Given the description of an element on the screen output the (x, y) to click on. 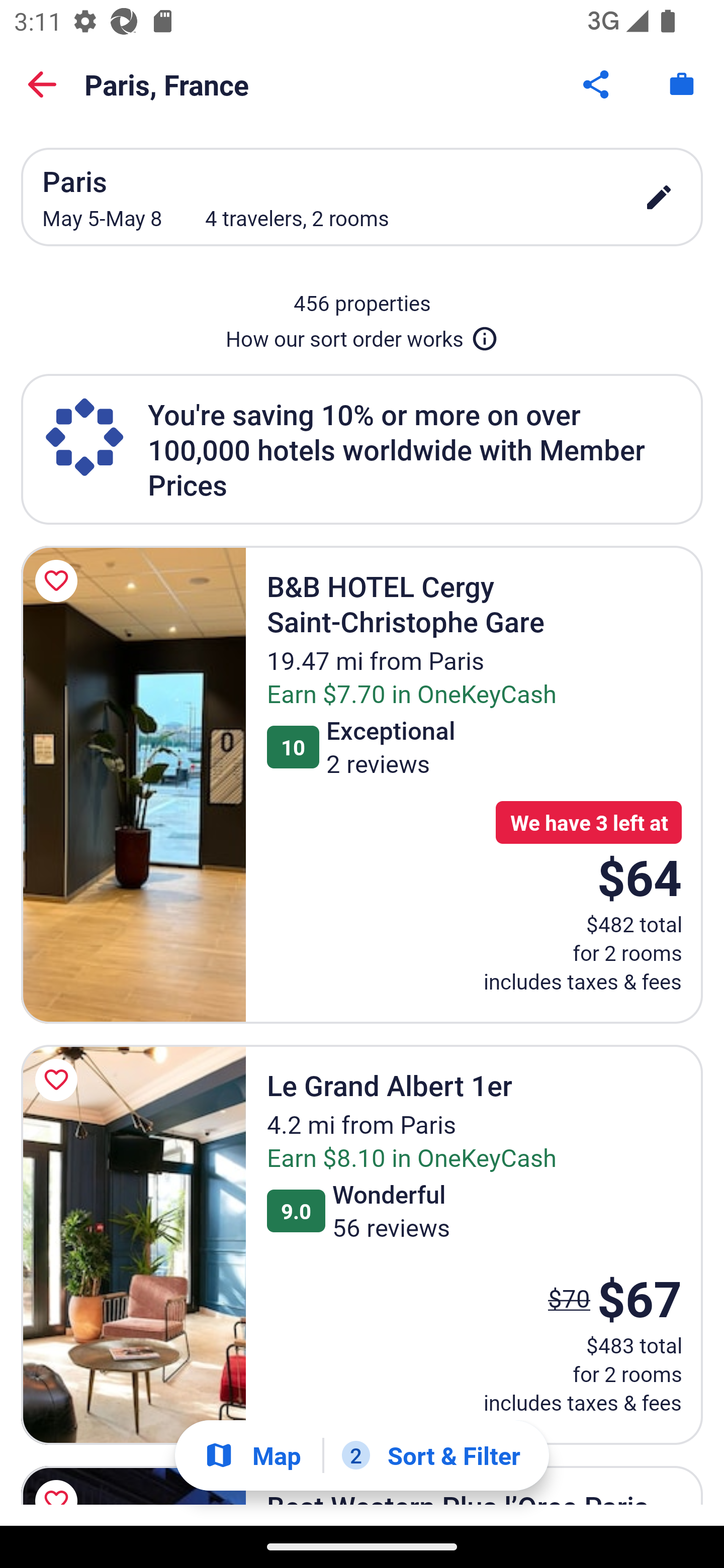
Back (42, 84)
Share Button (597, 84)
Trips. Button (681, 84)
Paris May 5-May 8 4 travelers, 2 rooms edit (361, 196)
How our sort order works (361, 334)
B&B HOTEL Cergy Saint-Christophe Gare (133, 784)
Save Le Grand Albert 1er to a trip (59, 1080)
Le Grand Albert 1er (133, 1244)
$70 The price was $70 (569, 1297)
2 Sort & Filter 2 Filters applied. Filters Button (430, 1455)
Show map Map Show map Button (252, 1455)
Save Best Western Plus l’Oree Paris Sud to a trip (59, 1481)
Best Western Plus l’Oree Paris Sud (172, 1485)
